Given the description of an element on the screen output the (x, y) to click on. 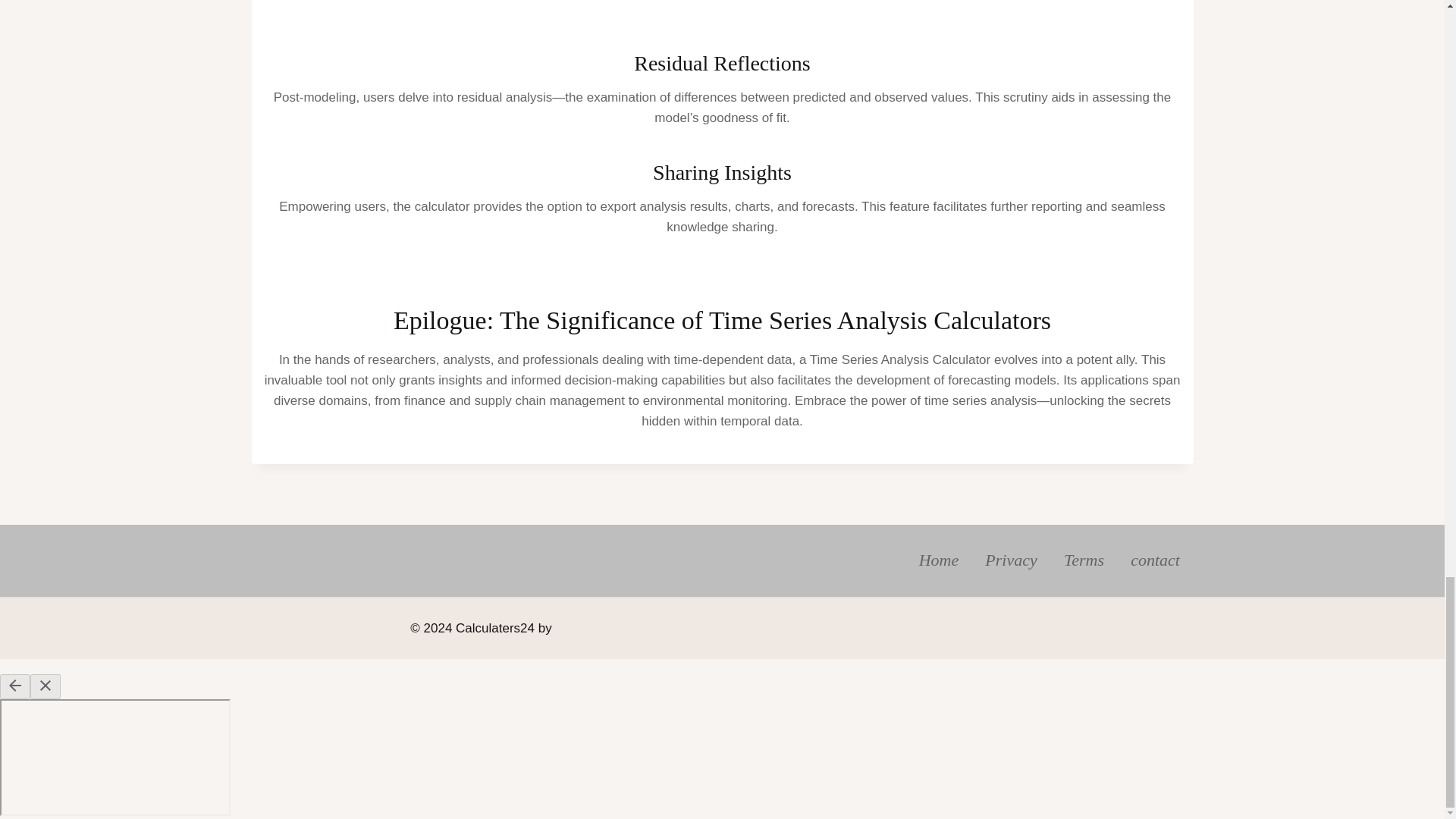
Home (938, 560)
Privacy (1011, 560)
Terms (1082, 560)
